Given the description of an element on the screen output the (x, y) to click on. 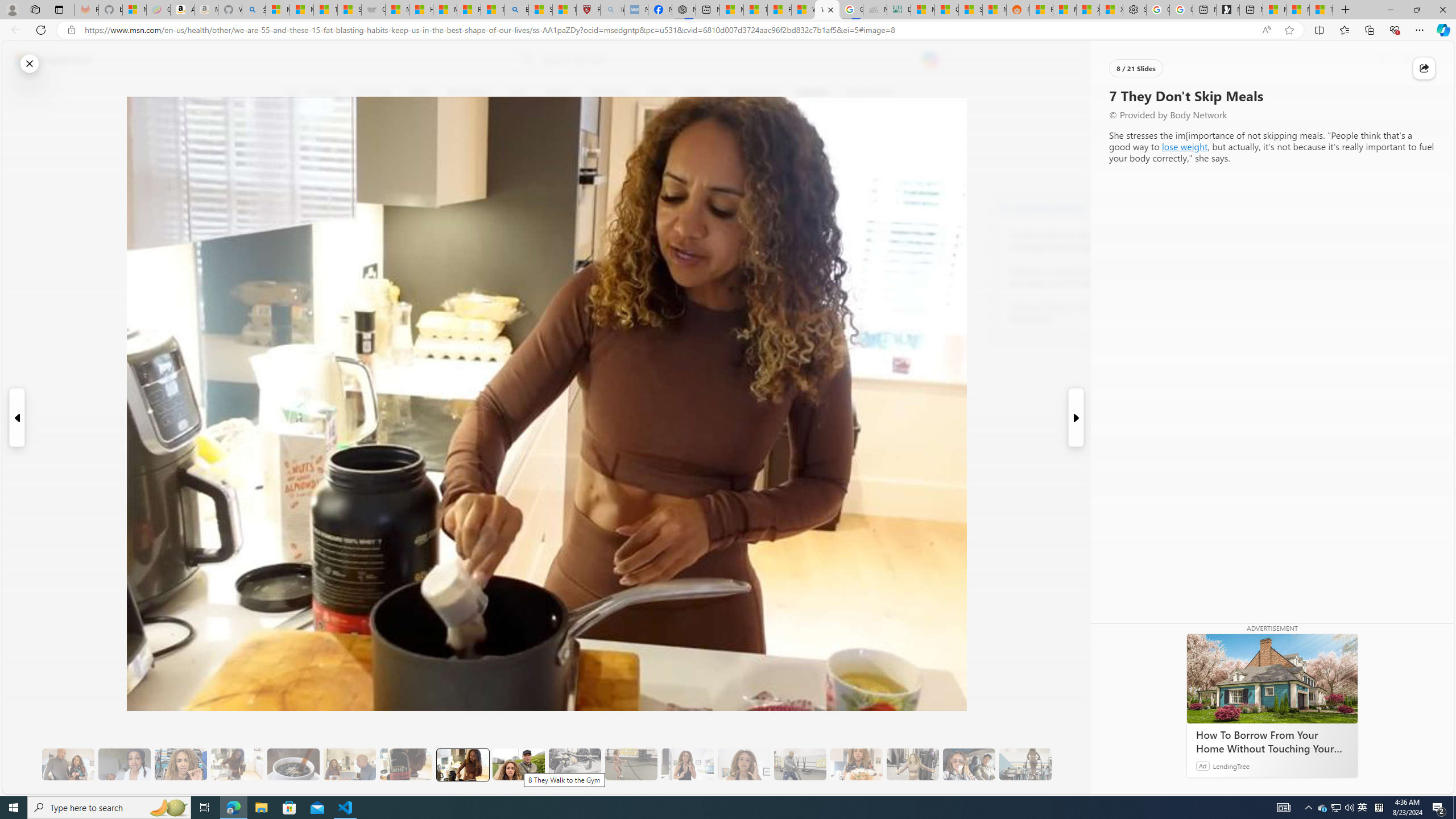
Notifications (1405, 60)
Skip to content (49, 59)
Go to publisher's site (830, 146)
Class: button-glyph (292, 92)
Recipes - MSN (469, 9)
Robert H. Shmerling, MD - Harvard Health (588, 9)
R******* | Trusted Community Engagement and Contributions (1041, 9)
